Given the description of an element on the screen output the (x, y) to click on. 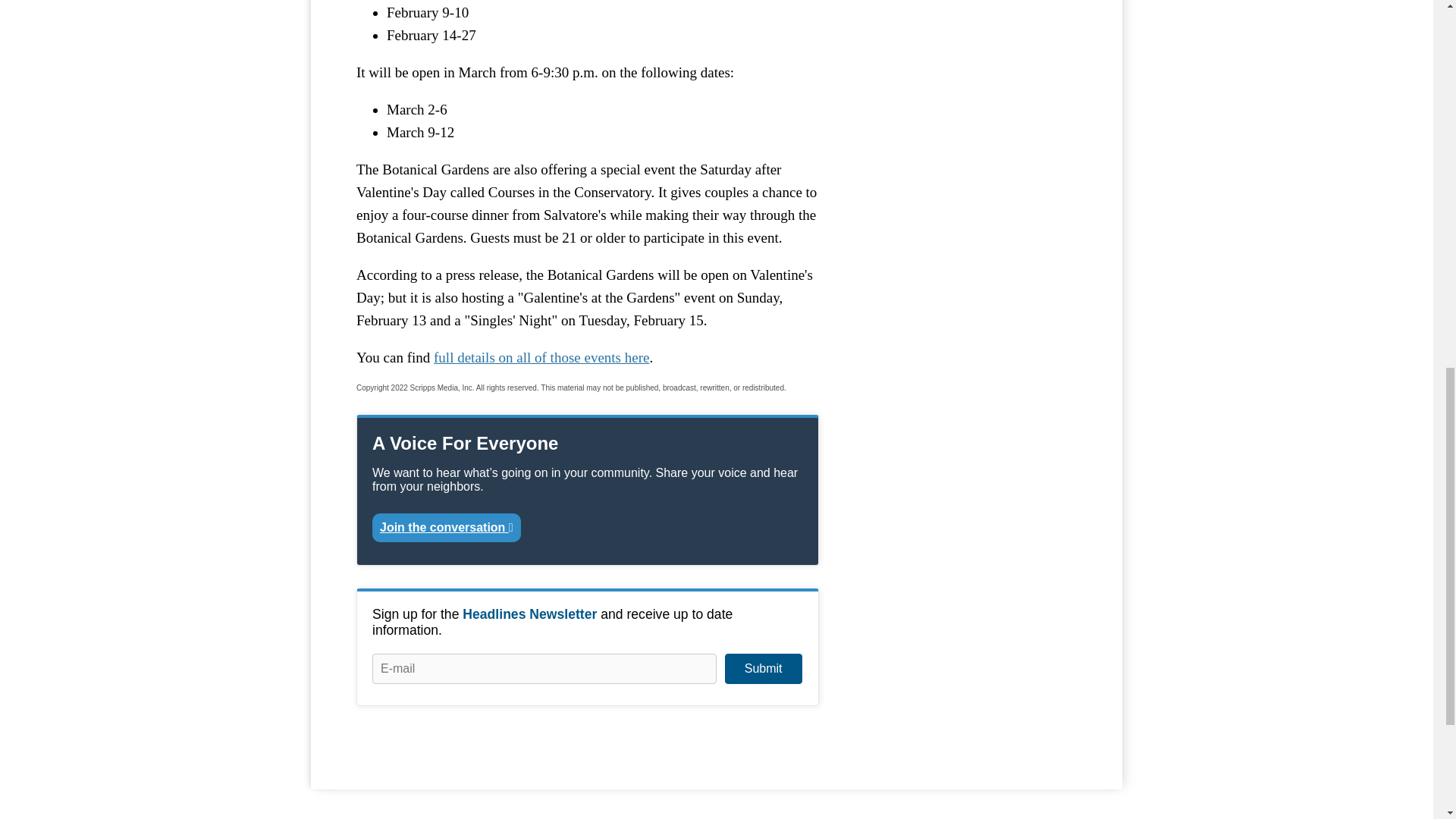
Submit (763, 668)
